Given the description of an element on the screen output the (x, y) to click on. 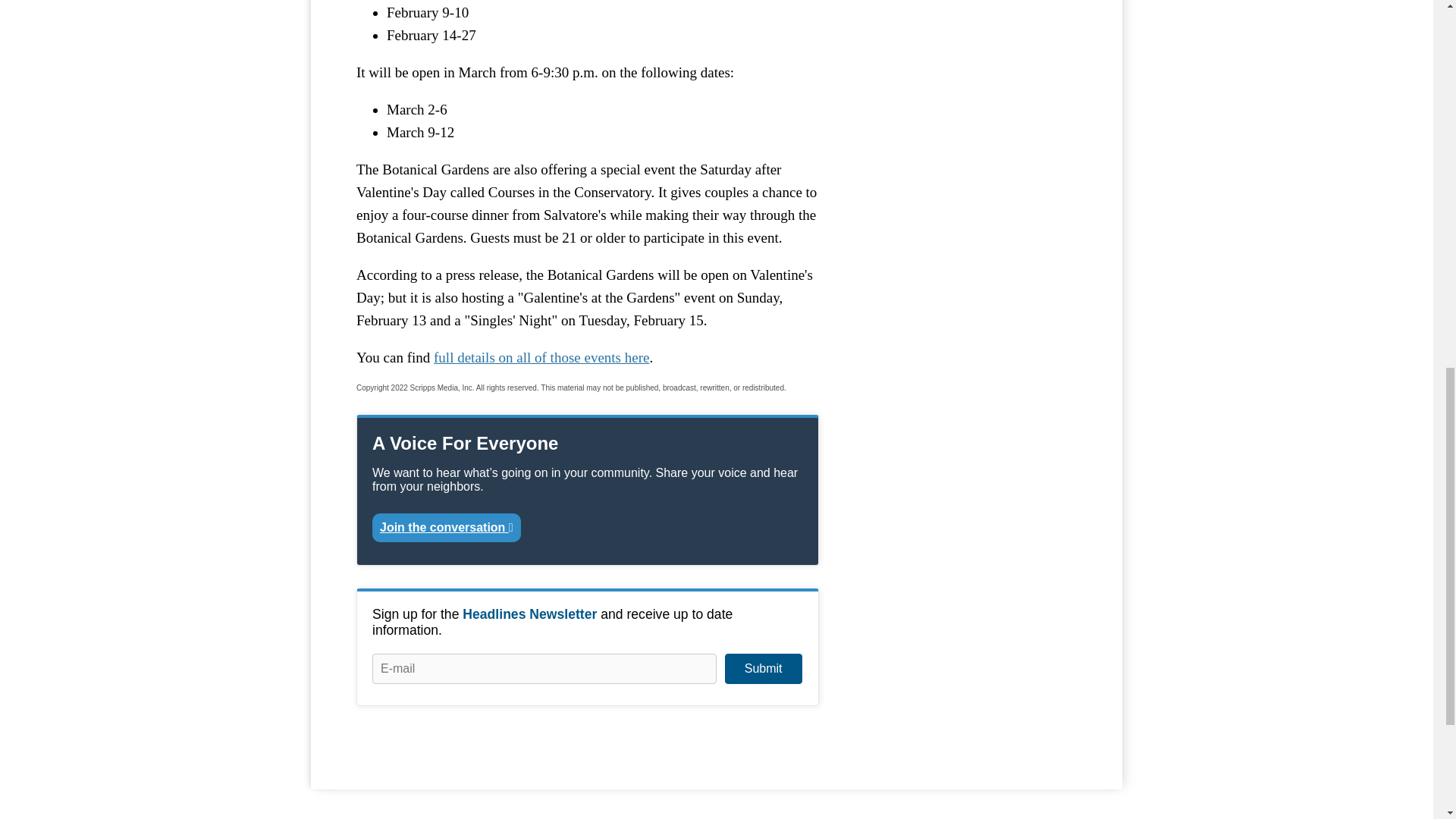
Submit (763, 668)
